Given the description of an element on the screen output the (x, y) to click on. 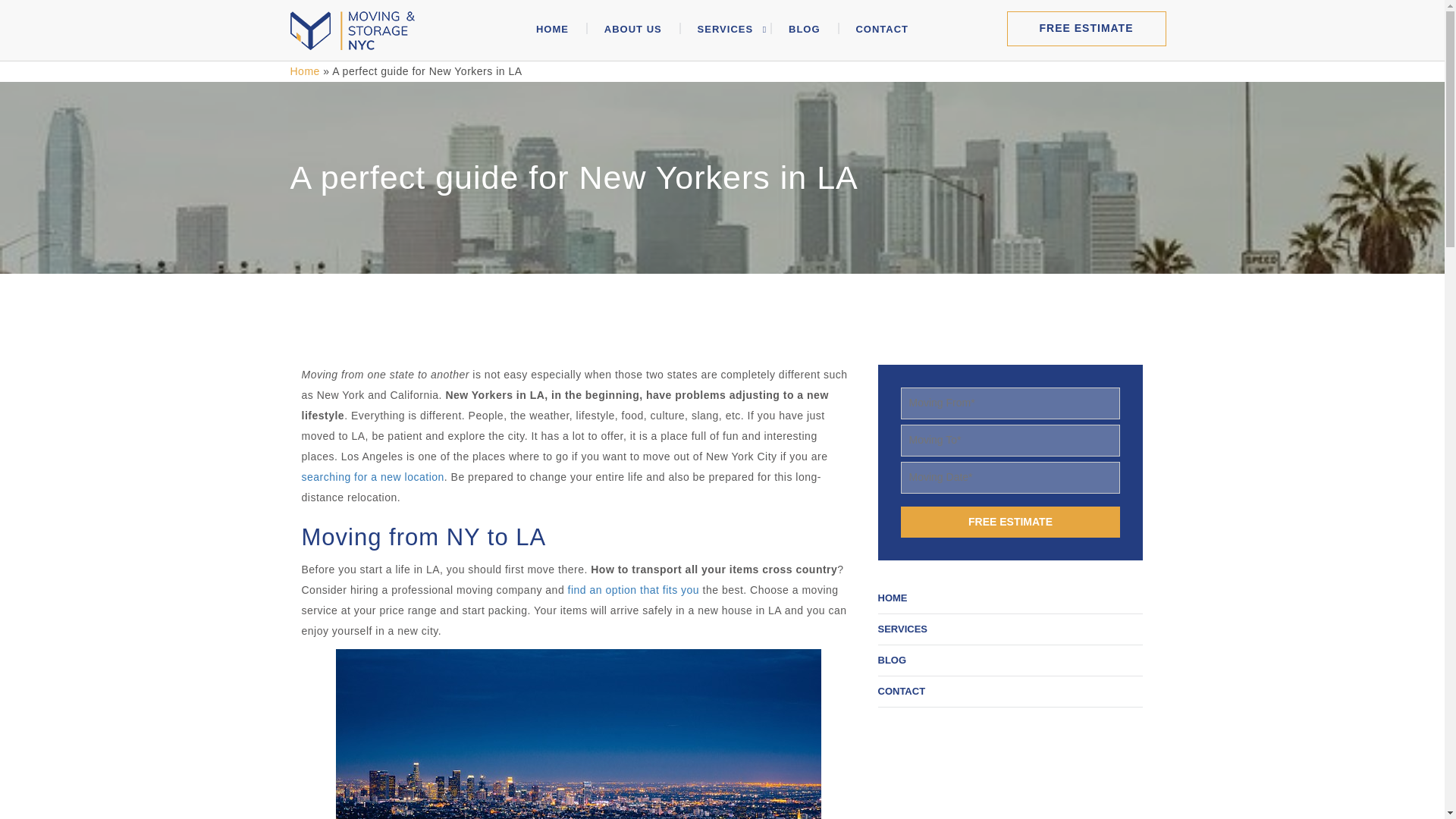
HOME (892, 597)
searching for a new location (372, 476)
BLOG (892, 659)
CONTACT (901, 690)
HOME (552, 35)
SUBMIT (1251, 569)
ABOUT US (633, 35)
find an option that fits you (633, 589)
BLOG (804, 35)
SERVICES (902, 628)
SERVICES (725, 35)
CONTACT (881, 35)
FREE ESTIMATE (1011, 522)
Home (303, 70)
FREE ESTIMATE (1086, 28)
